Given the description of an element on the screen output the (x, y) to click on. 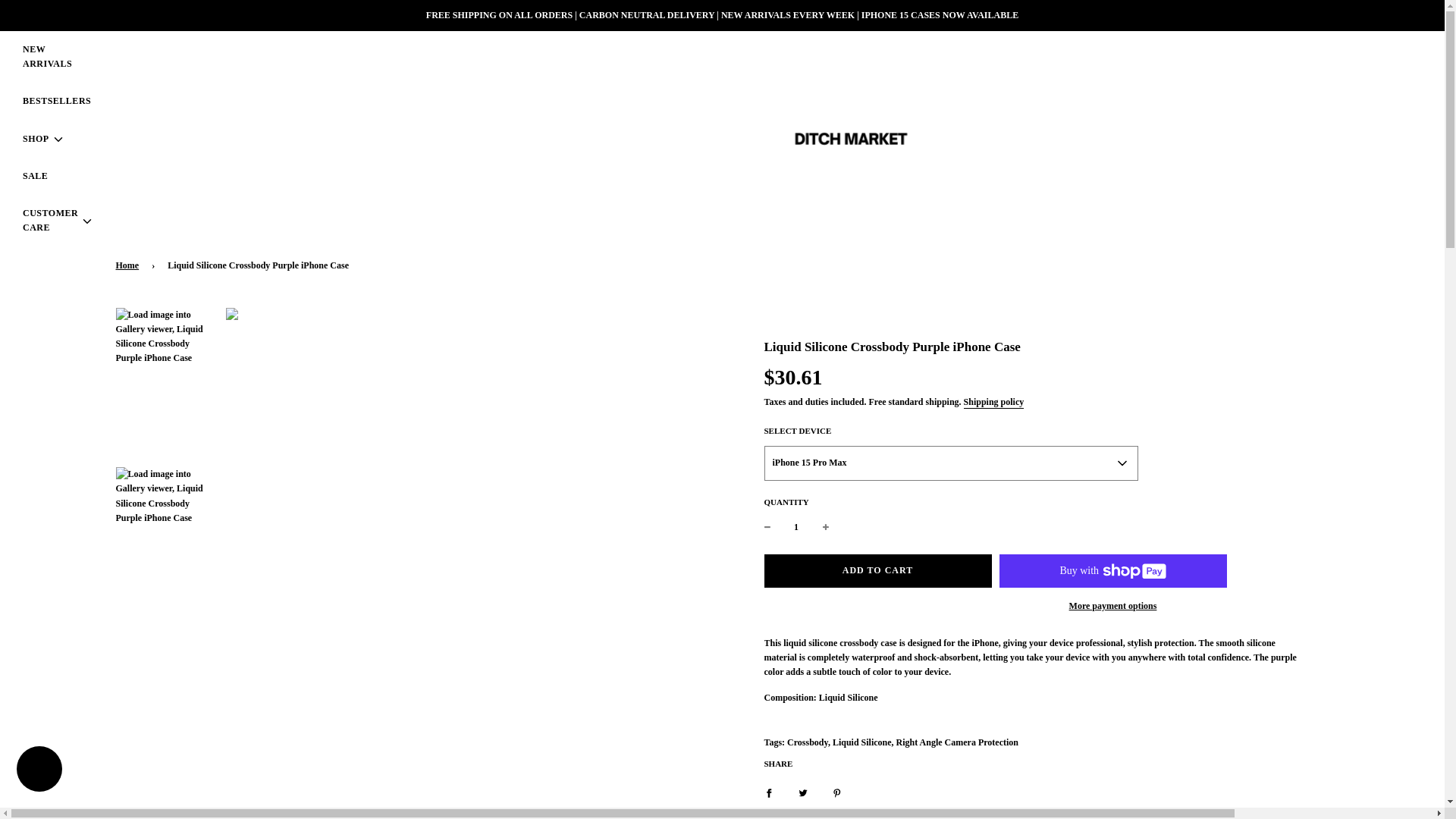
Shopify online store chat (38, 770)
Back to the frontpage (129, 265)
1 (796, 527)
